Given the description of an element on the screen output the (x, y) to click on. 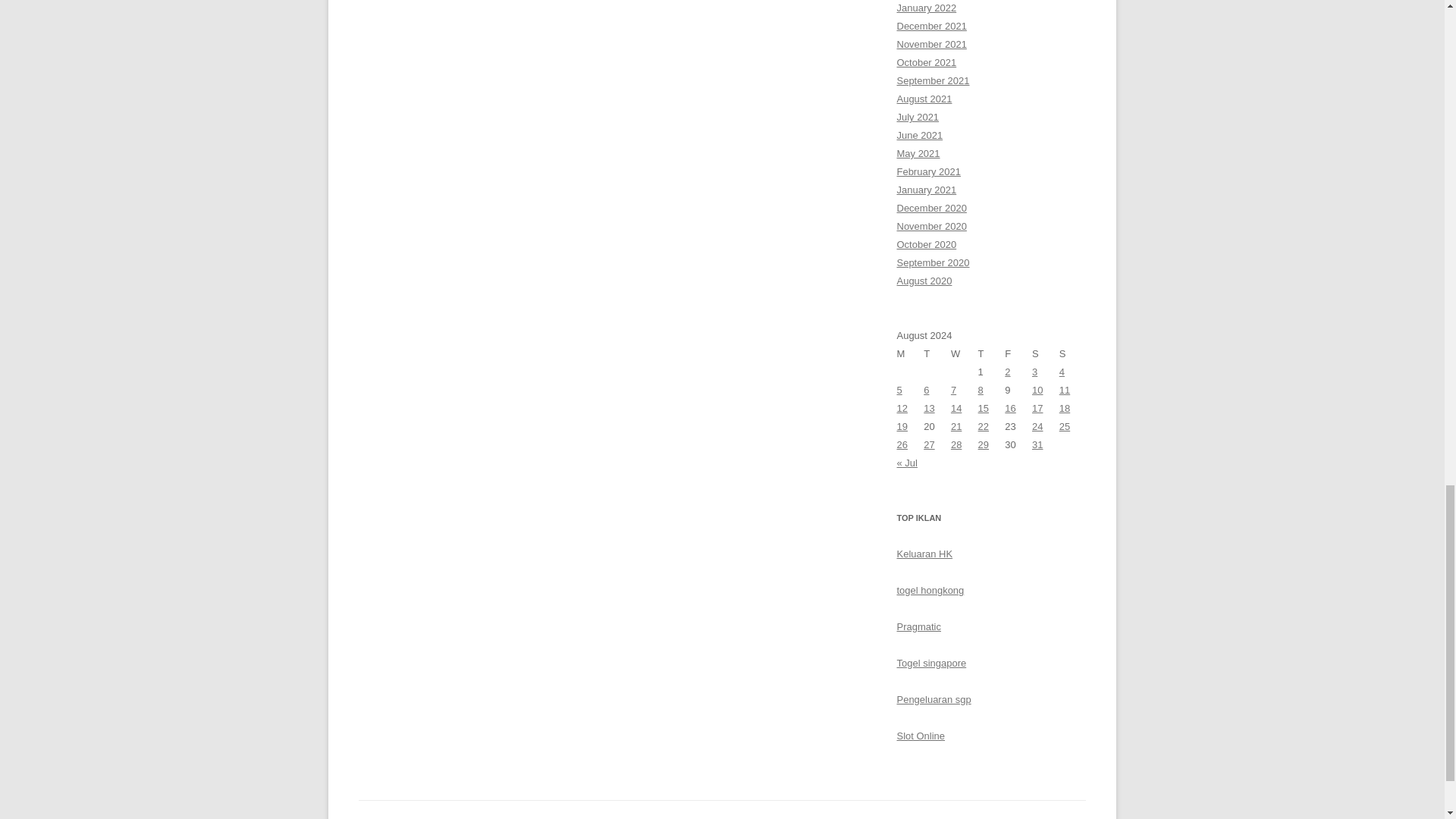
Saturday (1045, 353)
Friday (1018, 353)
Thursday (992, 353)
Wednesday (964, 353)
Sunday (1072, 353)
Tuesday (936, 353)
Monday (909, 353)
